Given the description of an element on the screen output the (x, y) to click on. 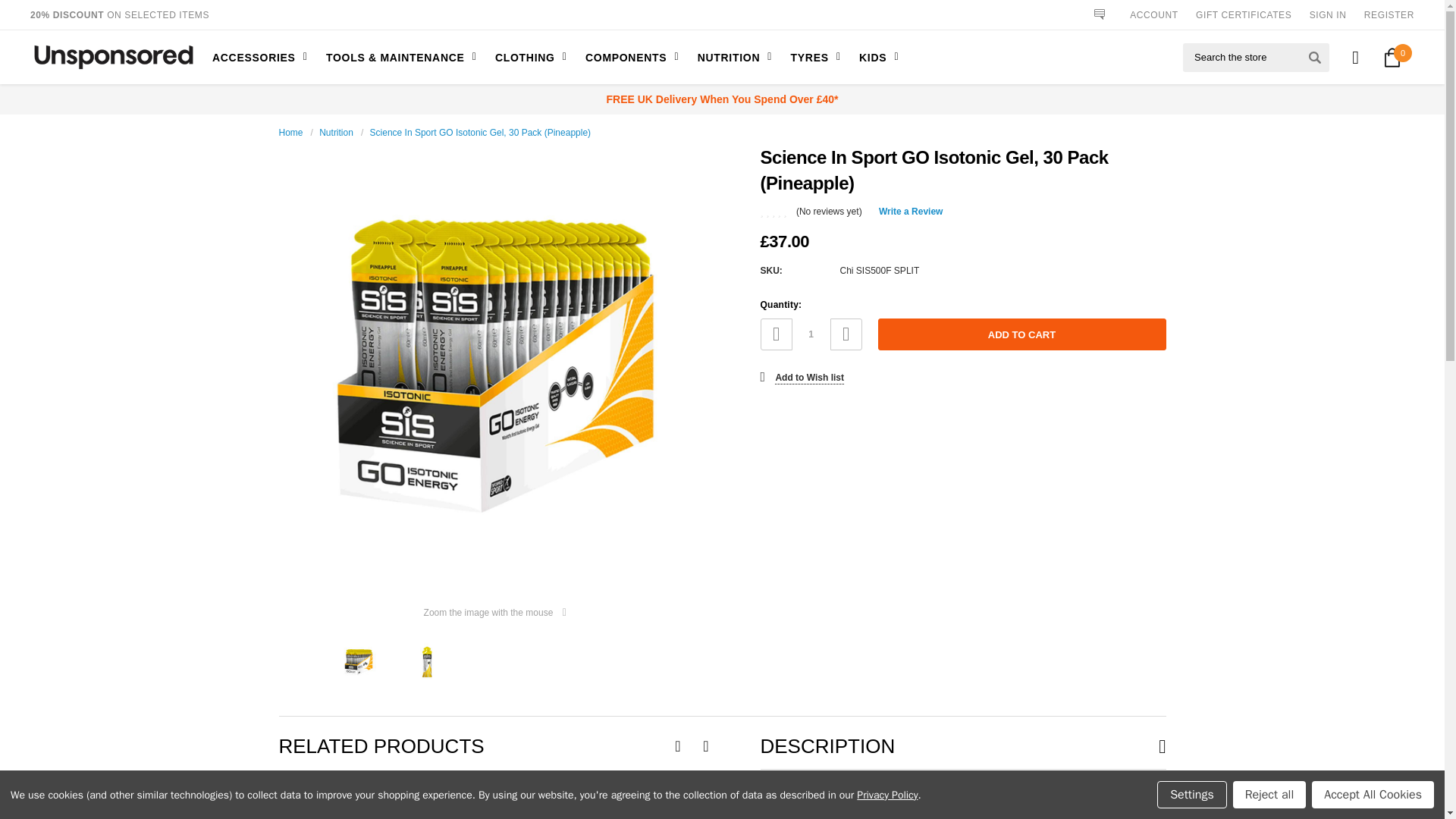
1 (810, 334)
Add to Cart (1021, 334)
Unsponsored (113, 56)
